Given the description of an element on the screen output the (x, y) to click on. 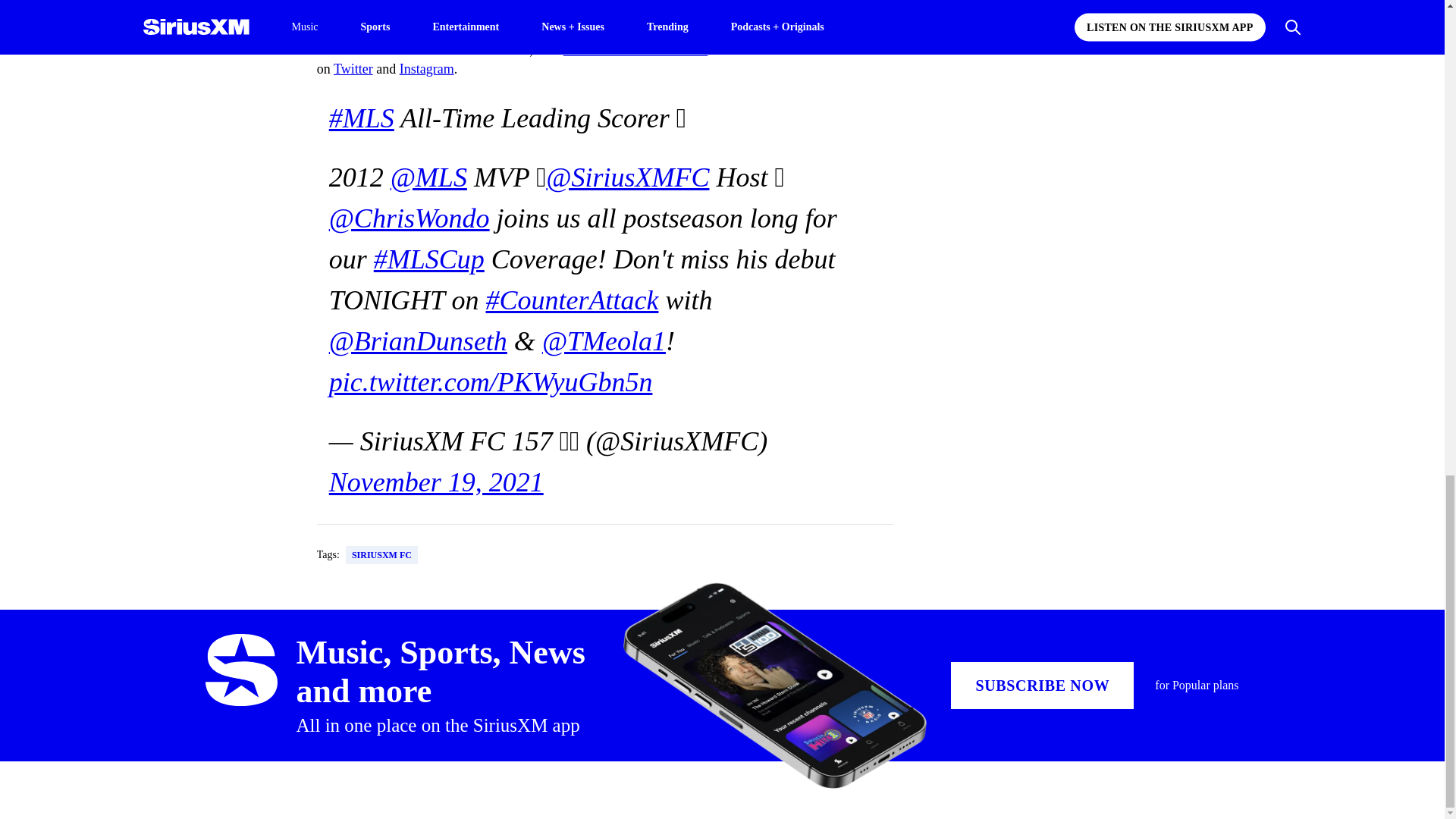
Instagram (426, 68)
Twitter (352, 68)
